Given the description of an element on the screen output the (x, y) to click on. 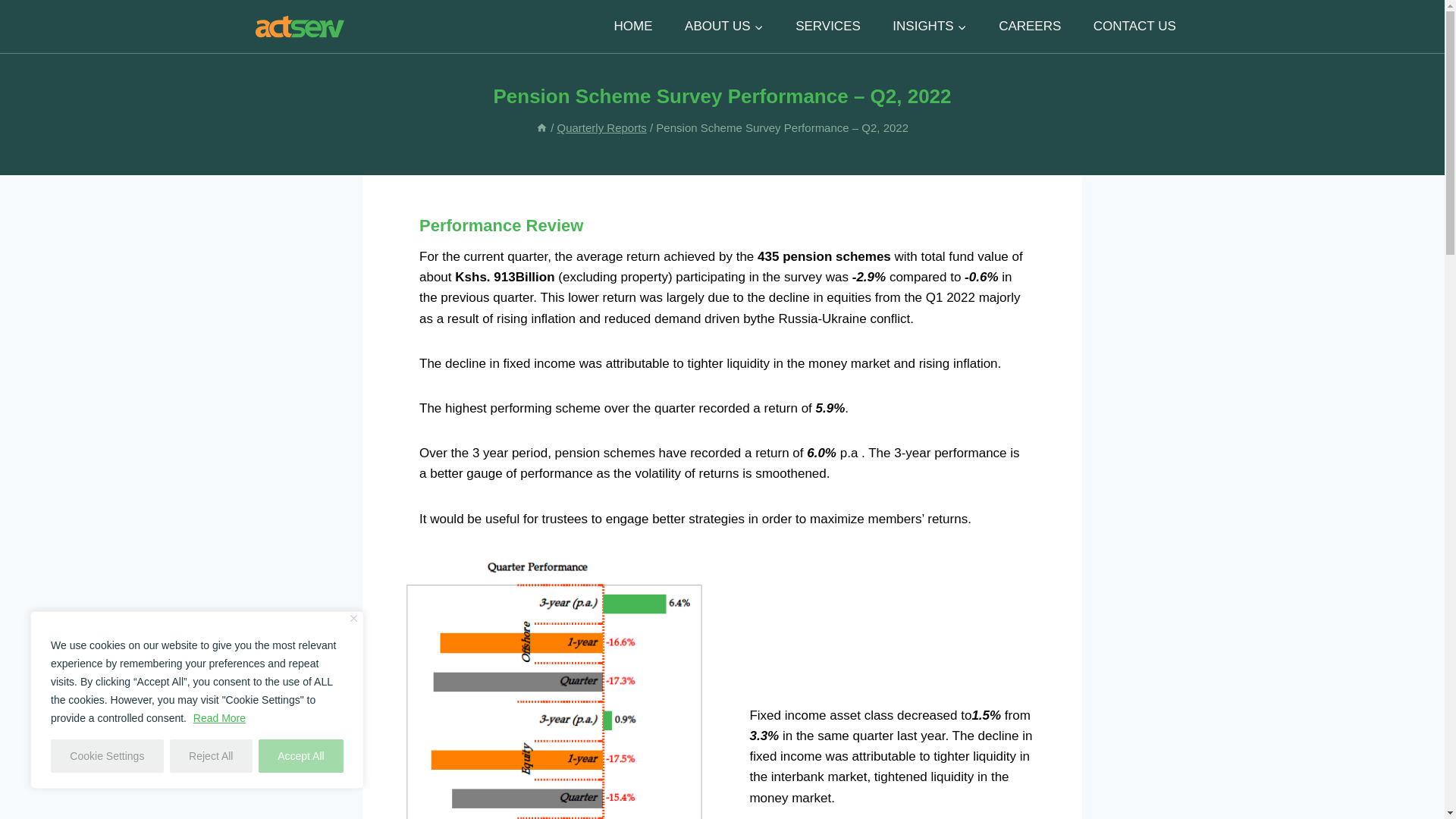
SERVICES (827, 26)
Read More (219, 717)
INSIGHTS (929, 26)
Reject All (210, 756)
ABOUT US (723, 26)
HOME (632, 26)
CONTACT US (1134, 26)
Accept All (301, 756)
Cookie Settings (106, 756)
CAREERS (1029, 26)
